Given the description of an element on the screen output the (x, y) to click on. 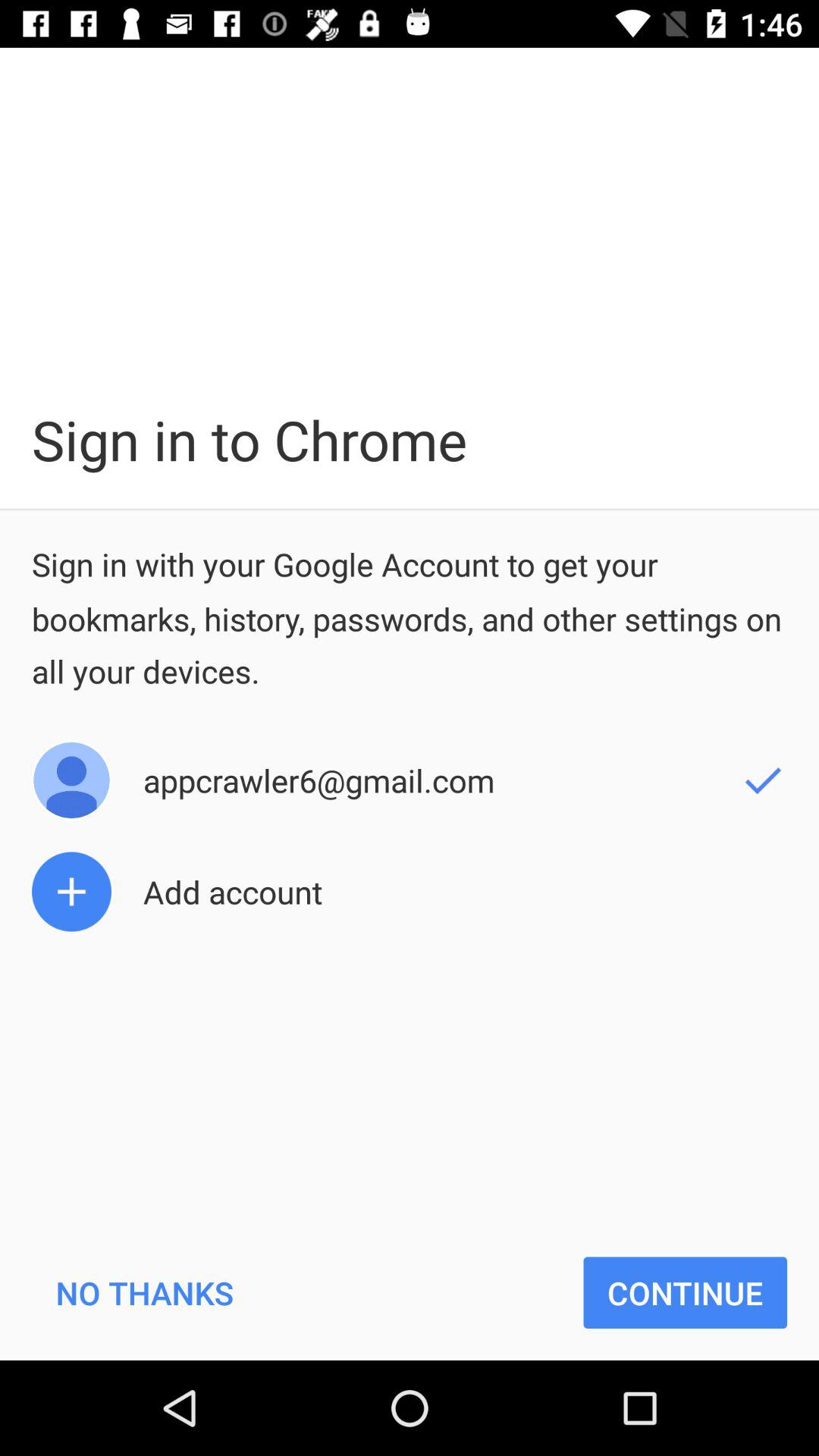
scroll until continue (685, 1292)
